Given the description of an element on the screen output the (x, y) to click on. 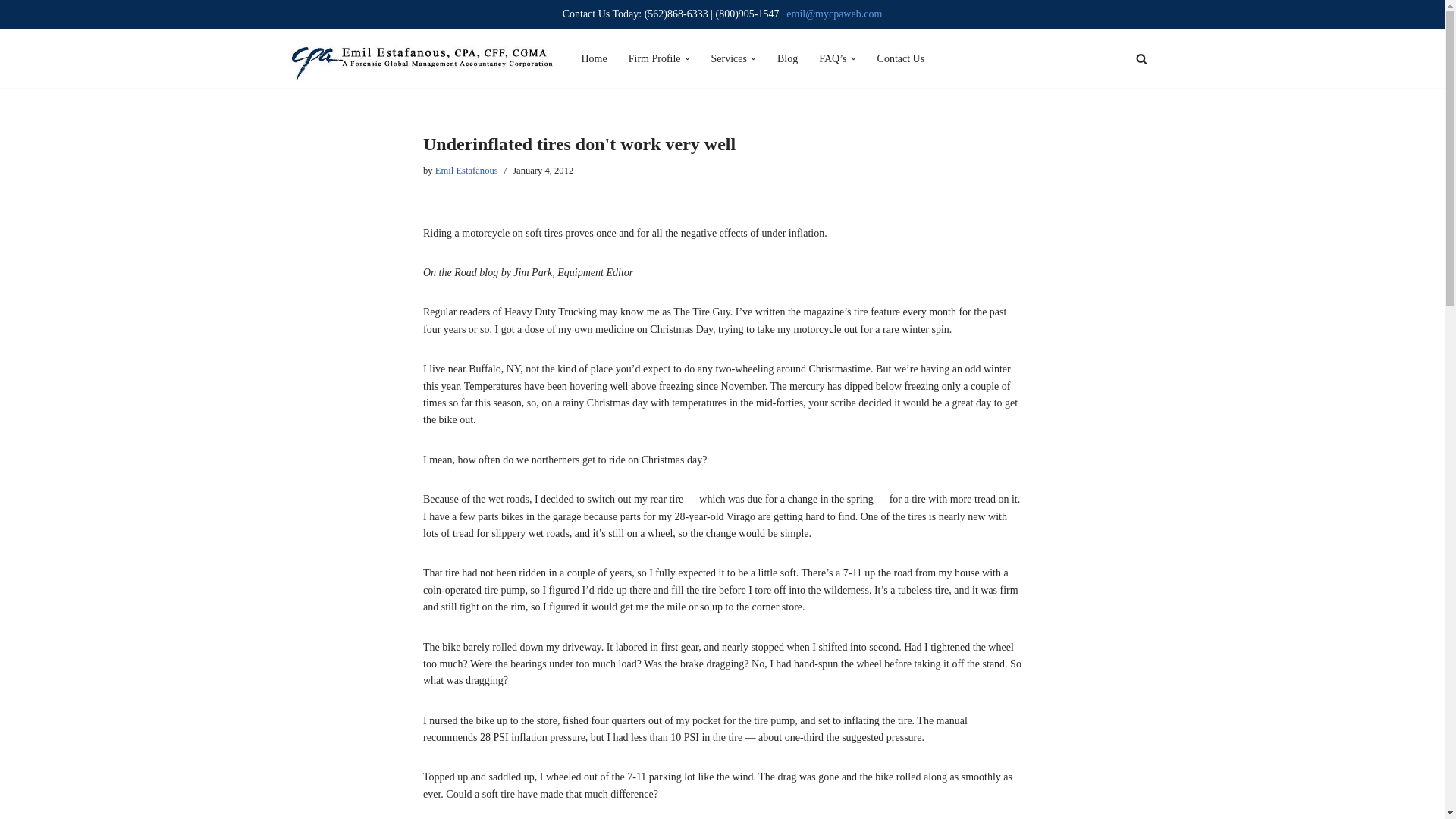
Posts by Emil Estafanous (466, 170)
Blog (787, 58)
Services (728, 58)
Home (593, 58)
Skip to content (11, 31)
Firm Profile (654, 58)
Contact Us (900, 58)
